Given the description of an element on the screen output the (x, y) to click on. 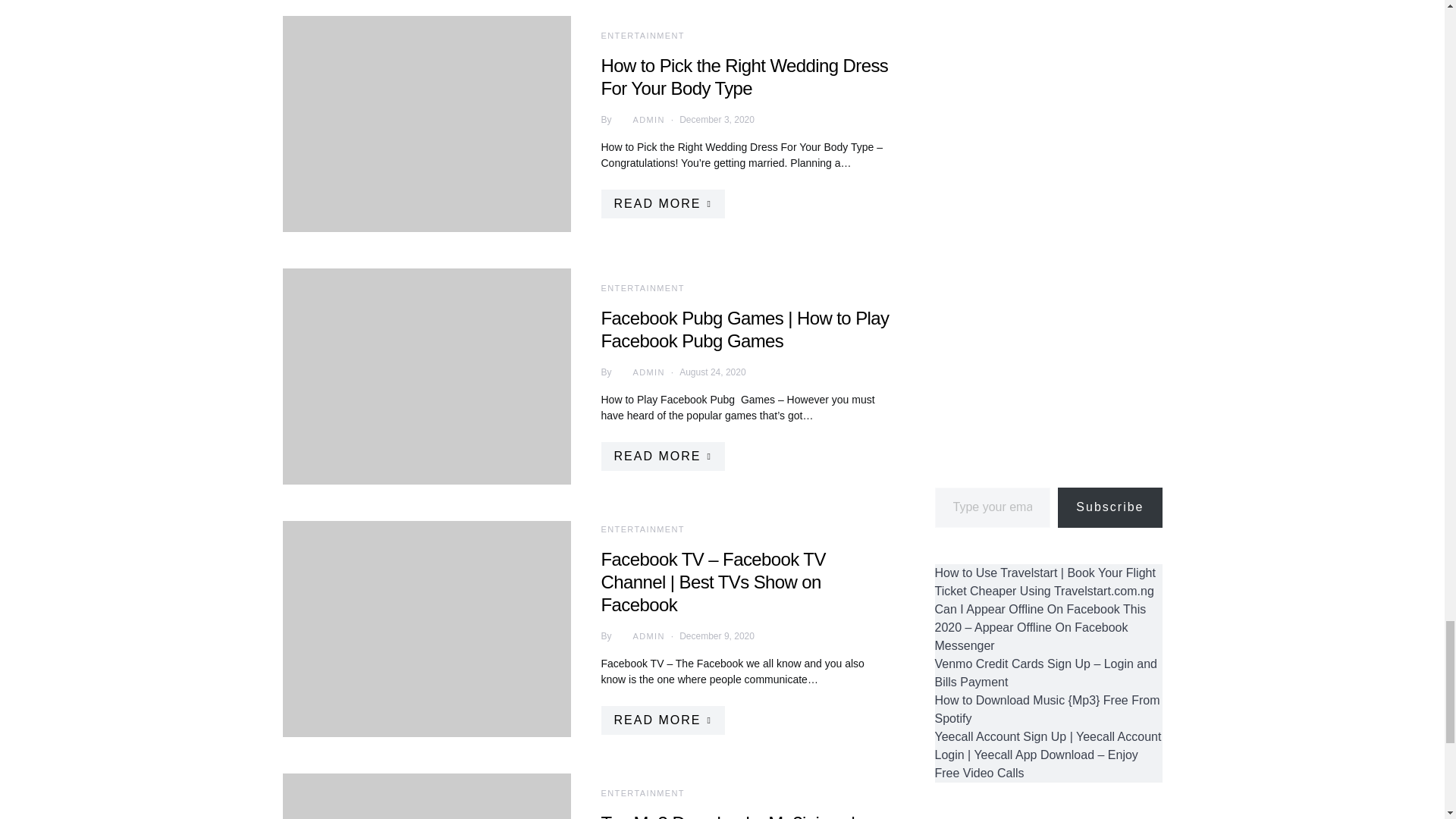
View all posts by admin (638, 372)
View all posts by admin (638, 635)
View all posts by admin (638, 119)
